Given the description of an element on the screen output the (x, y) to click on. 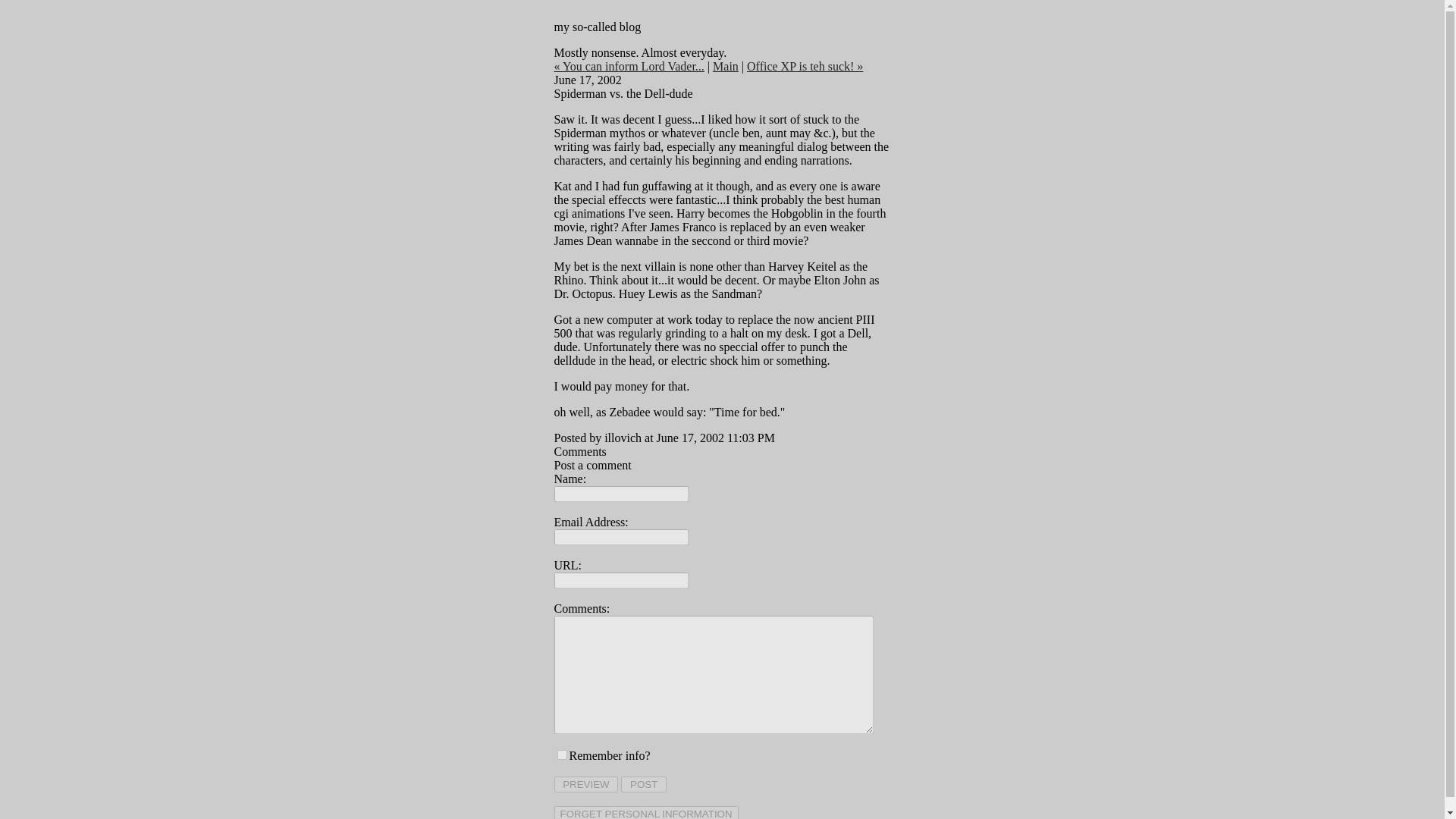
Main (725, 65)
on (561, 755)
